Given the description of an element on the screen output the (x, y) to click on. 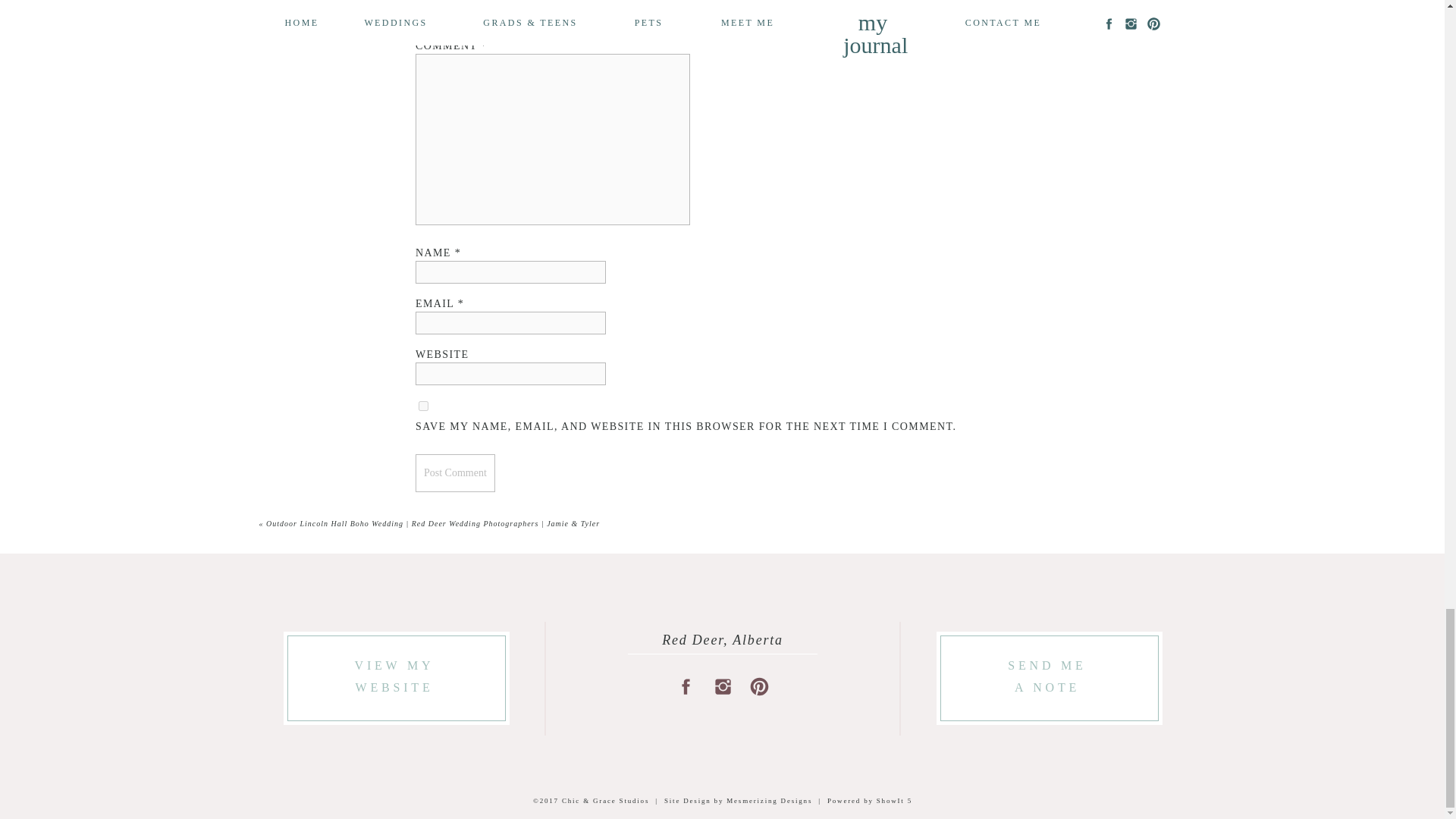
yes (423, 406)
Post Comment (454, 473)
Site Design by Mesmerizing Designs (1047, 678)
Post Comment (737, 800)
